Given the description of an element on the screen output the (x, y) to click on. 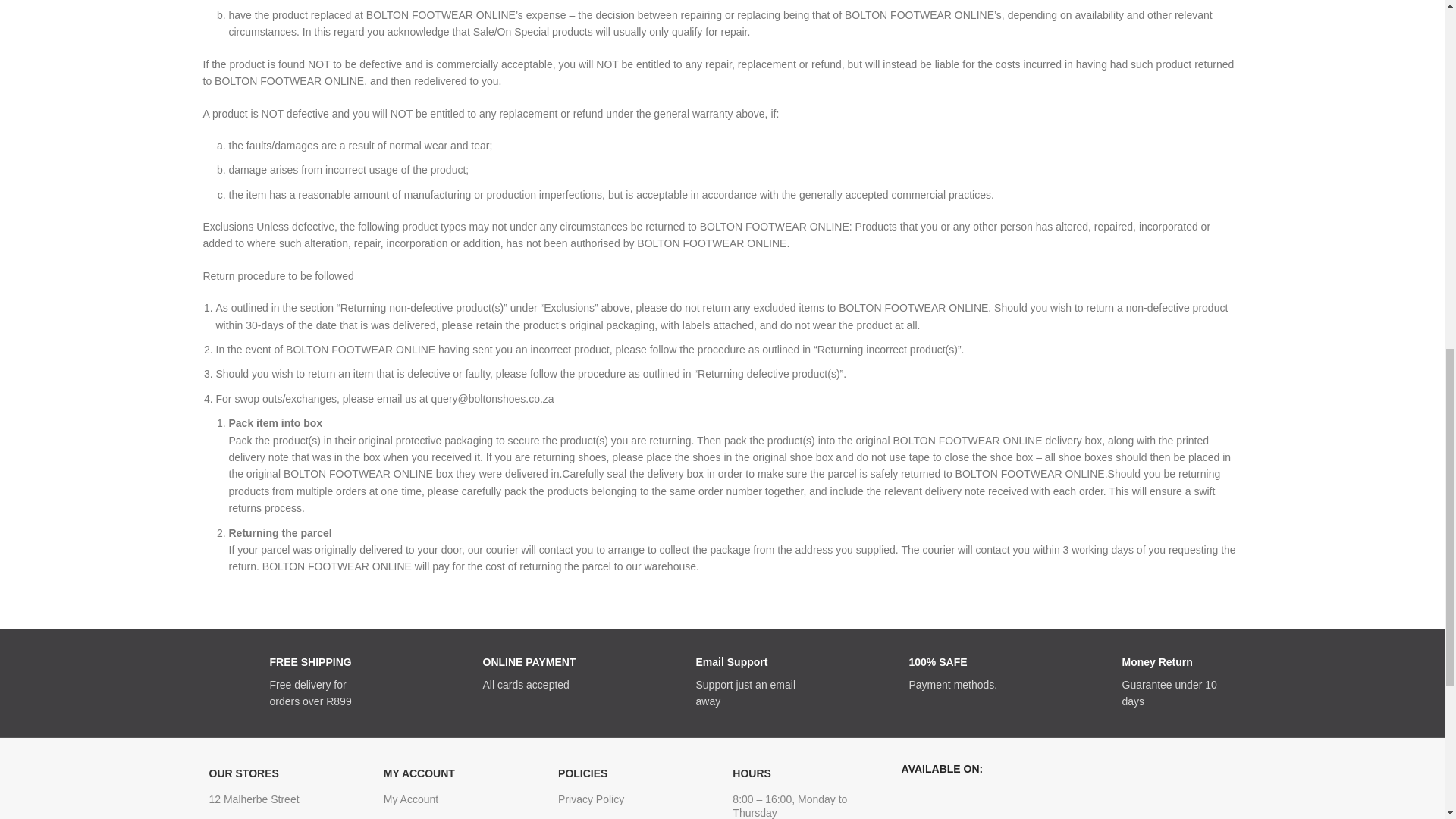
black-friday-shipping.svg (235, 673)
black-friday-online-payment.svg (448, 673)
black-friday-return.svg (1087, 673)
black-friday-support.svg (662, 673)
black-friday-safe.svg (874, 673)
